Given the description of an element on the screen output the (x, y) to click on. 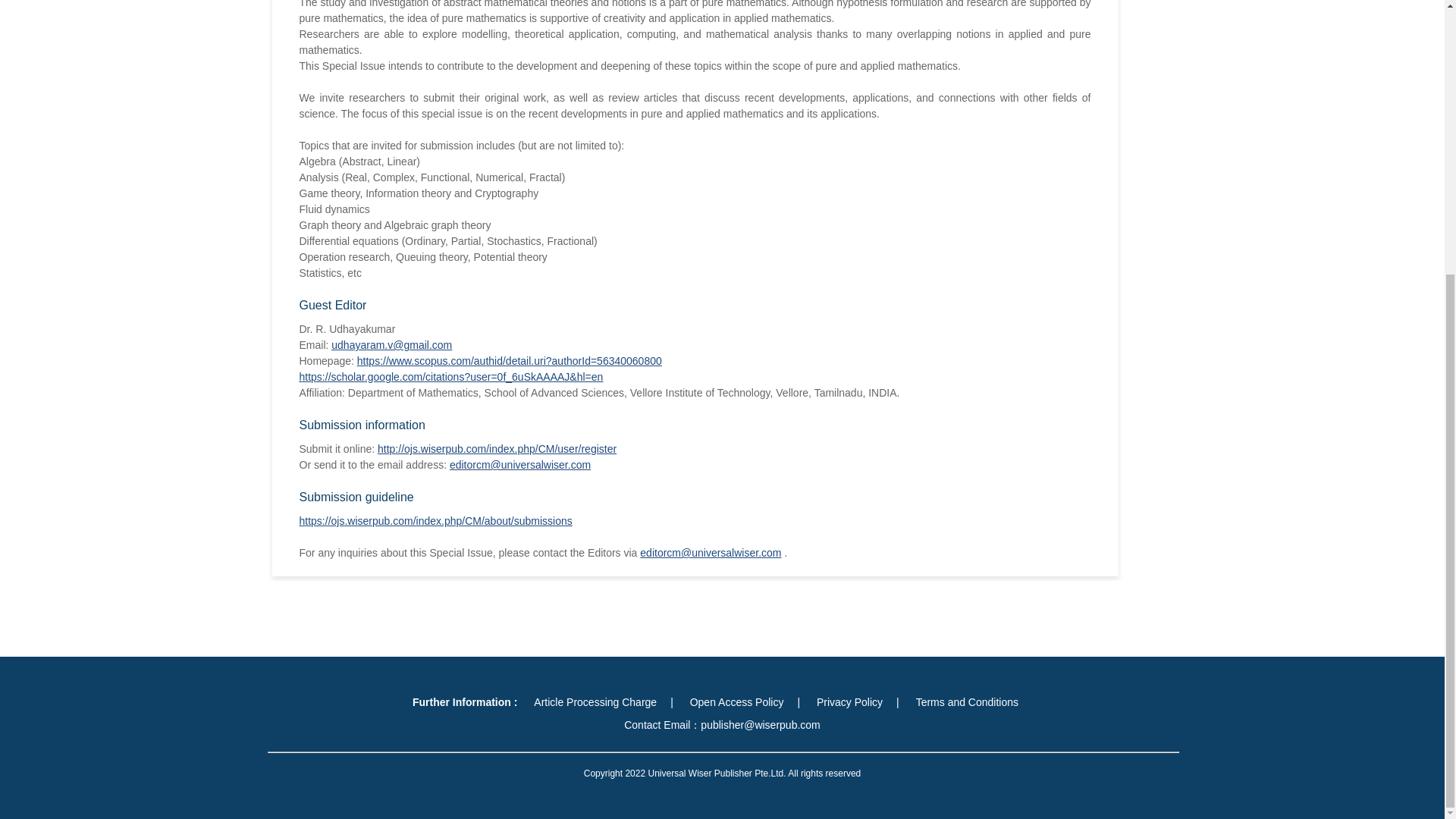
Privacy Policy (849, 702)
Article Processing Charge (594, 702)
Terms and Conditions (967, 702)
Open Access Policy (737, 702)
